Given the description of an element on the screen output the (x, y) to click on. 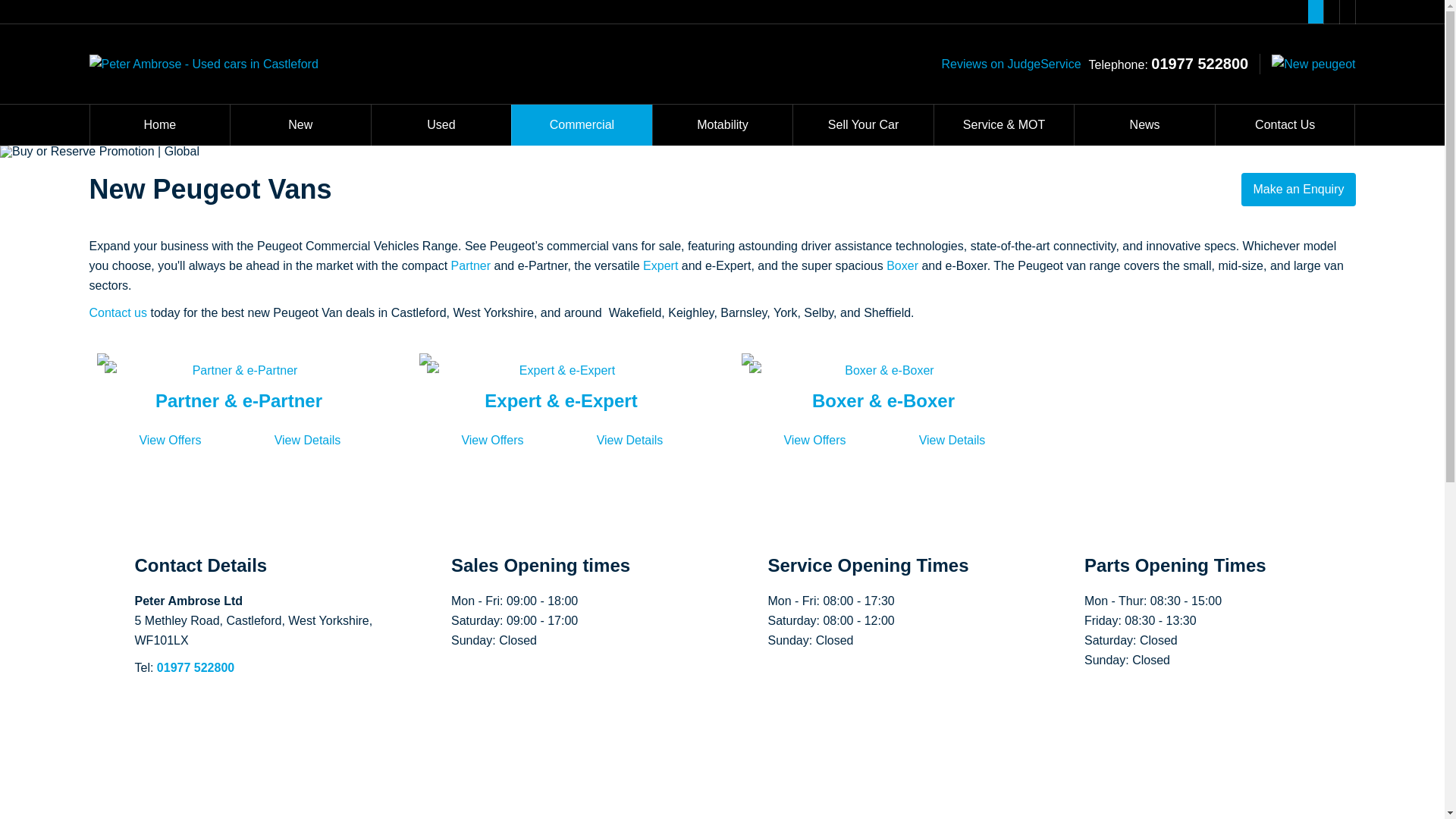
Boxer (902, 265)
New (300, 124)
Home (159, 124)
Used (441, 124)
Partner (473, 265)
Expert (662, 265)
News (1144, 124)
Sell Your Car (863, 124)
Reviews on JudgeService (1010, 63)
Reviews on JudgeService (1010, 63)
Make an Enquiry (1298, 189)
Contact Us (1285, 124)
01977 522800 (1199, 62)
Motability (722, 124)
